Given the description of an element on the screen output the (x, y) to click on. 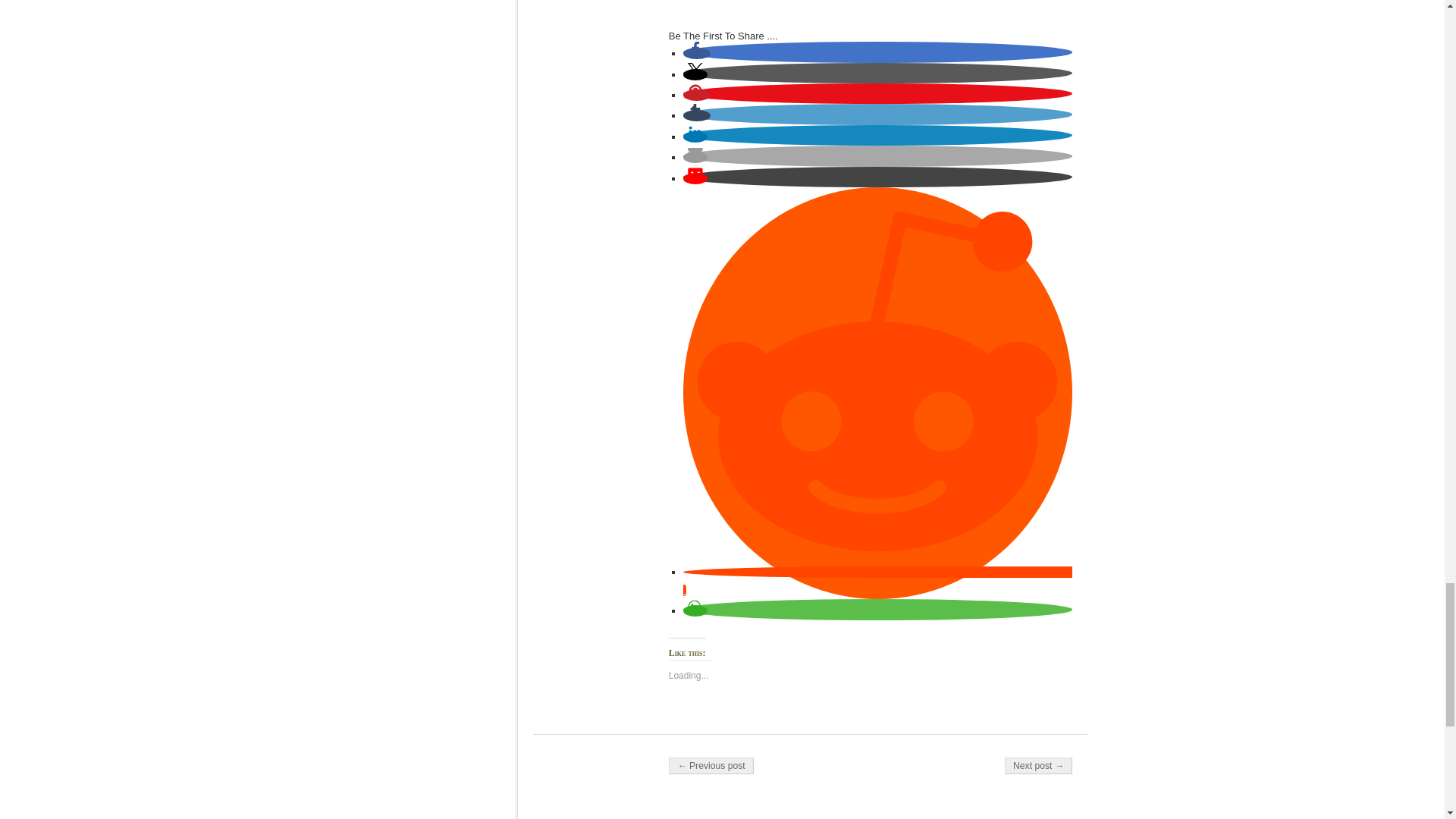
Save to Pocket (694, 178)
Share on LinkedIn (694, 136)
Pin it on Pinterest (696, 94)
Share on X (694, 74)
Share on Reddit (876, 580)
Share on tumblr (696, 115)
Send by email (694, 156)
Share on Whatsapp (694, 610)
Share on Facebook (696, 52)
